Given the description of an element on the screen output the (x, y) to click on. 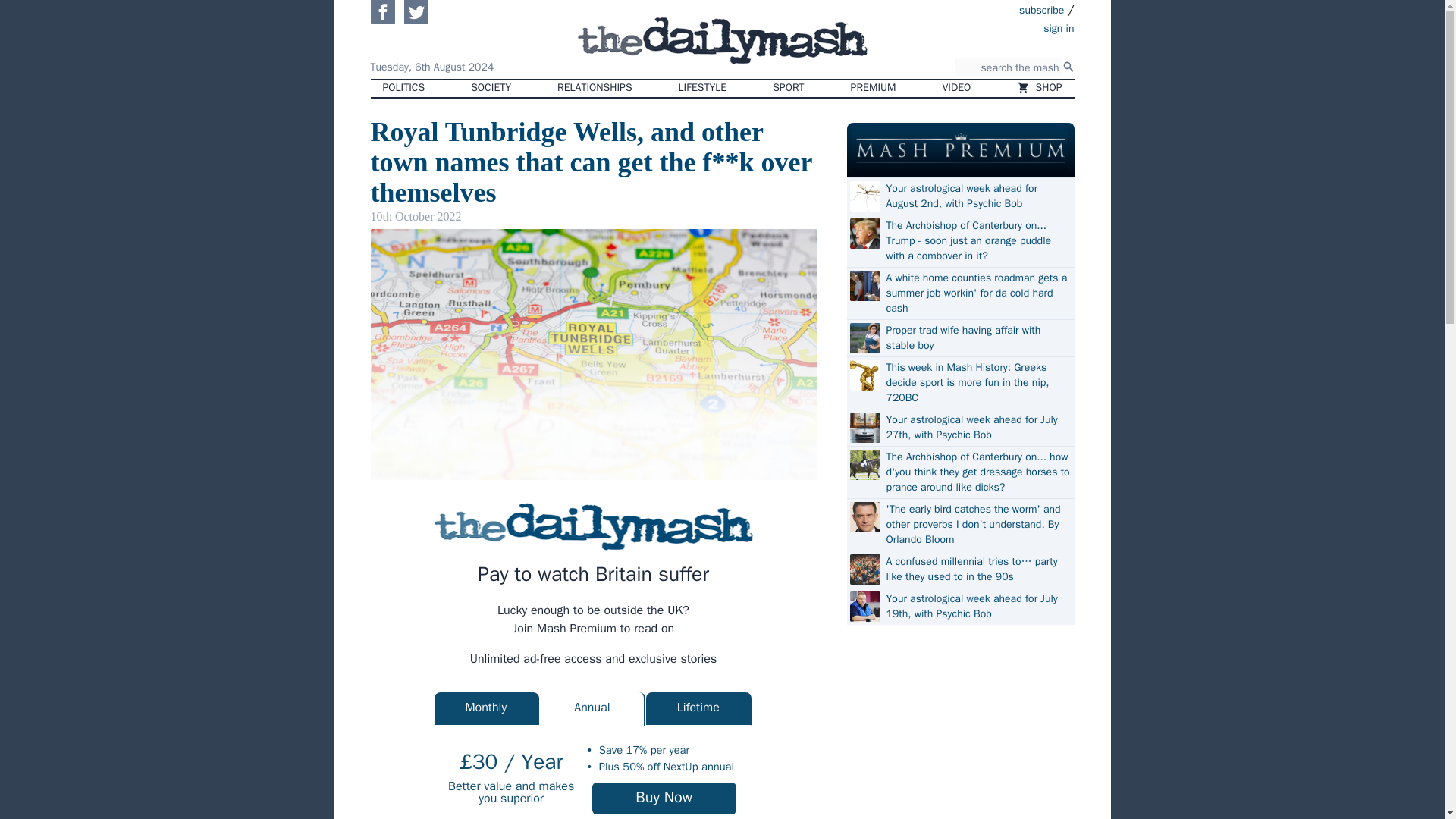
LIFESTYLE (702, 88)
SHOP (1039, 88)
Buy Now (664, 798)
SPORT (787, 88)
RELATIONSHIPS (593, 88)
SOCIETY (490, 88)
subscribe (1041, 9)
sign in (970, 27)
